Given the description of an element on the screen output the (x, y) to click on. 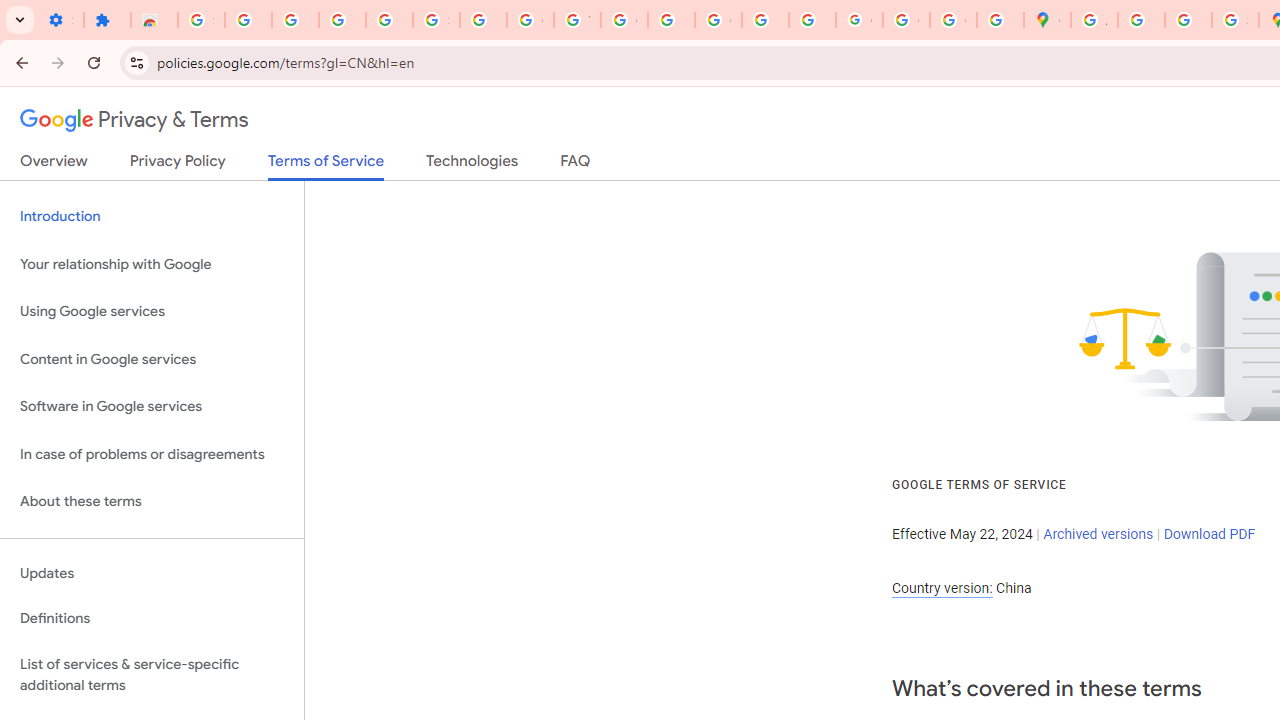
Using Google services (152, 312)
Safety in Our Products - Google Safety Center (1235, 20)
Reviews: Helix Fruit Jump Arcade Game (153, 20)
https://scholar.google.com/ (671, 20)
Sign in - Google Accounts (436, 20)
